Given the description of an element on the screen output the (x, y) to click on. 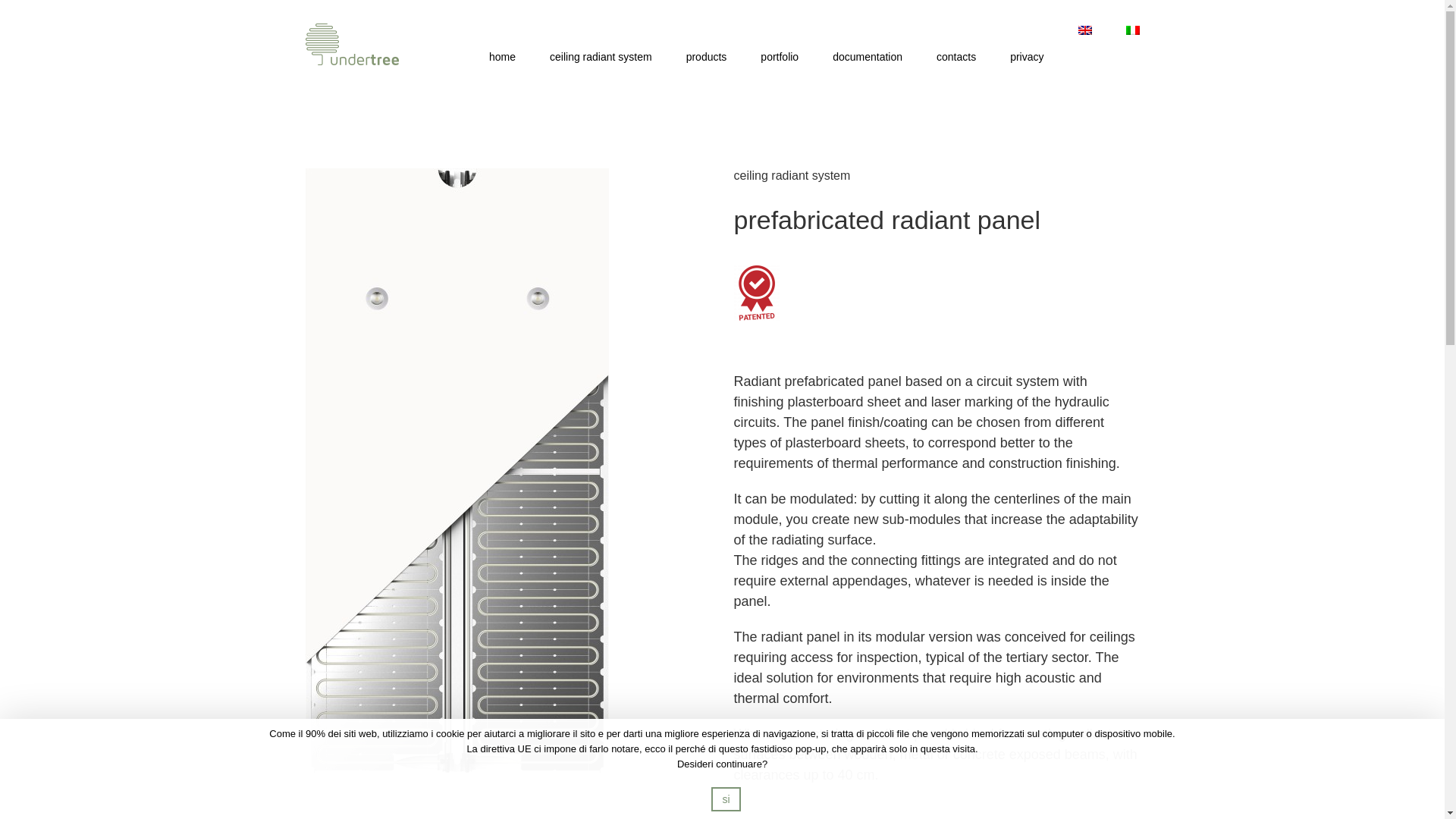
documentation (867, 56)
contacts (955, 56)
English (1085, 30)
products (705, 56)
portfolio (778, 56)
Italiano (1131, 30)
privacy (1026, 56)
si (725, 799)
ceiling radiant system (601, 56)
patended (755, 293)
home (502, 56)
